Given the description of an element on the screen output the (x, y) to click on. 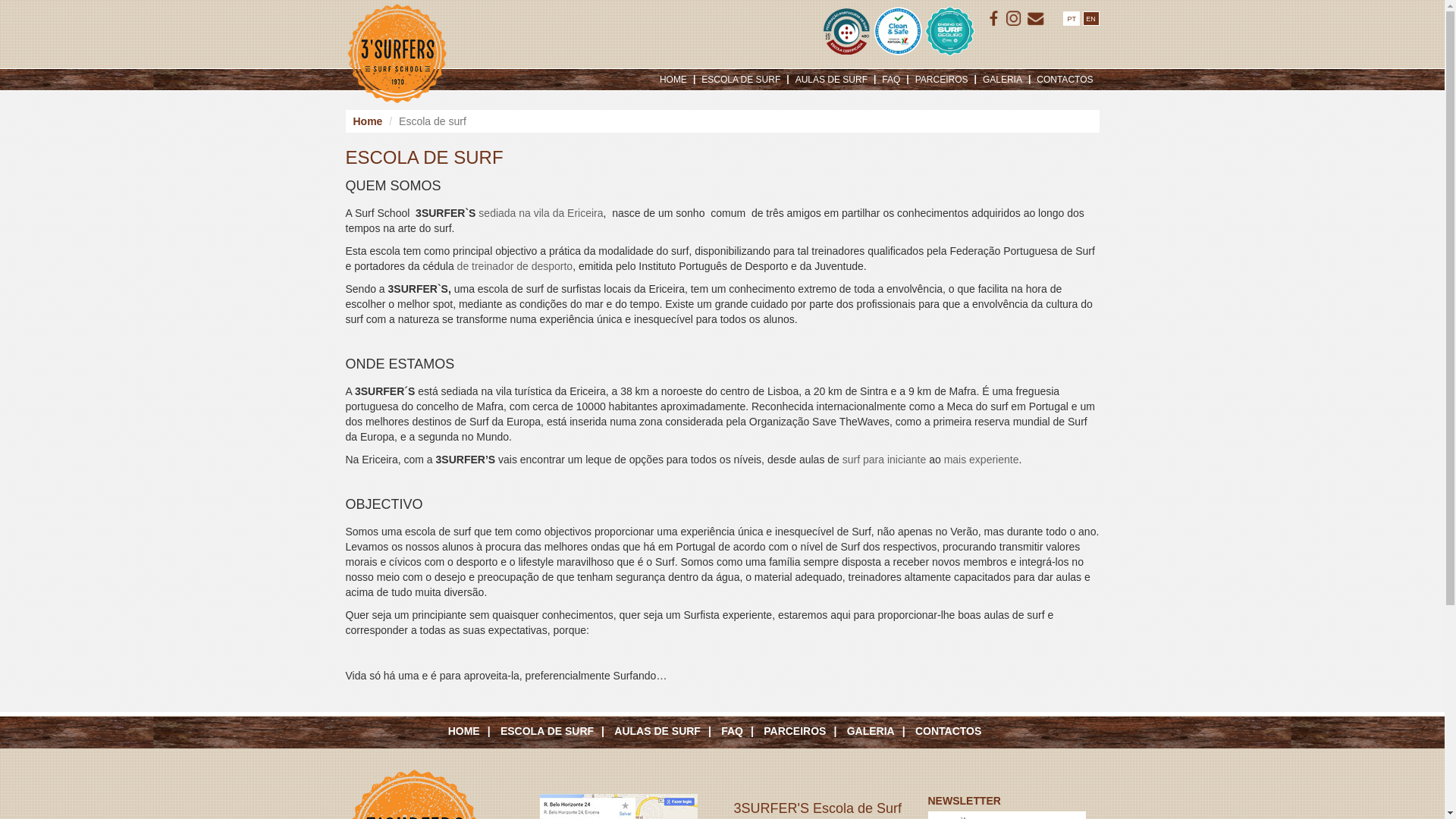
FAQ Element type: text (741, 730)
HOME Element type: text (473, 730)
HOME Element type: text (673, 79)
CONTACTOS Element type: text (955, 730)
ESCOLA DE SURF Element type: text (555, 730)
surf para iniciante Element type: text (884, 459)
ESCOLA DE SURF Element type: text (740, 79)
de treinador de desporto Element type: text (515, 266)
FAQ Element type: text (890, 79)
PARCEIROS Element type: text (803, 730)
PARCEIROS Element type: text (941, 79)
AULAS DE SURF Element type: text (831, 79)
GALERIA Element type: text (880, 730)
CONTACTOS Element type: text (1064, 79)
E-mail Element type: text (1035, 18)
GALERIA Element type: text (1002, 79)
PT Element type: text (1071, 18)
EN Element type: text (1090, 18)
sediada na vila da Ericeira Element type: text (540, 213)
Home Element type: text (367, 121)
Facebook Element type: text (993, 18)
ISSUU Element type: text (1013, 18)
AULAS DE SURF Element type: text (666, 730)
Clean & Safe / Ensino de Surf Seguro Element type: hover (898, 31)
mais experiente Element type: text (981, 459)
